Given the description of an element on the screen output the (x, y) to click on. 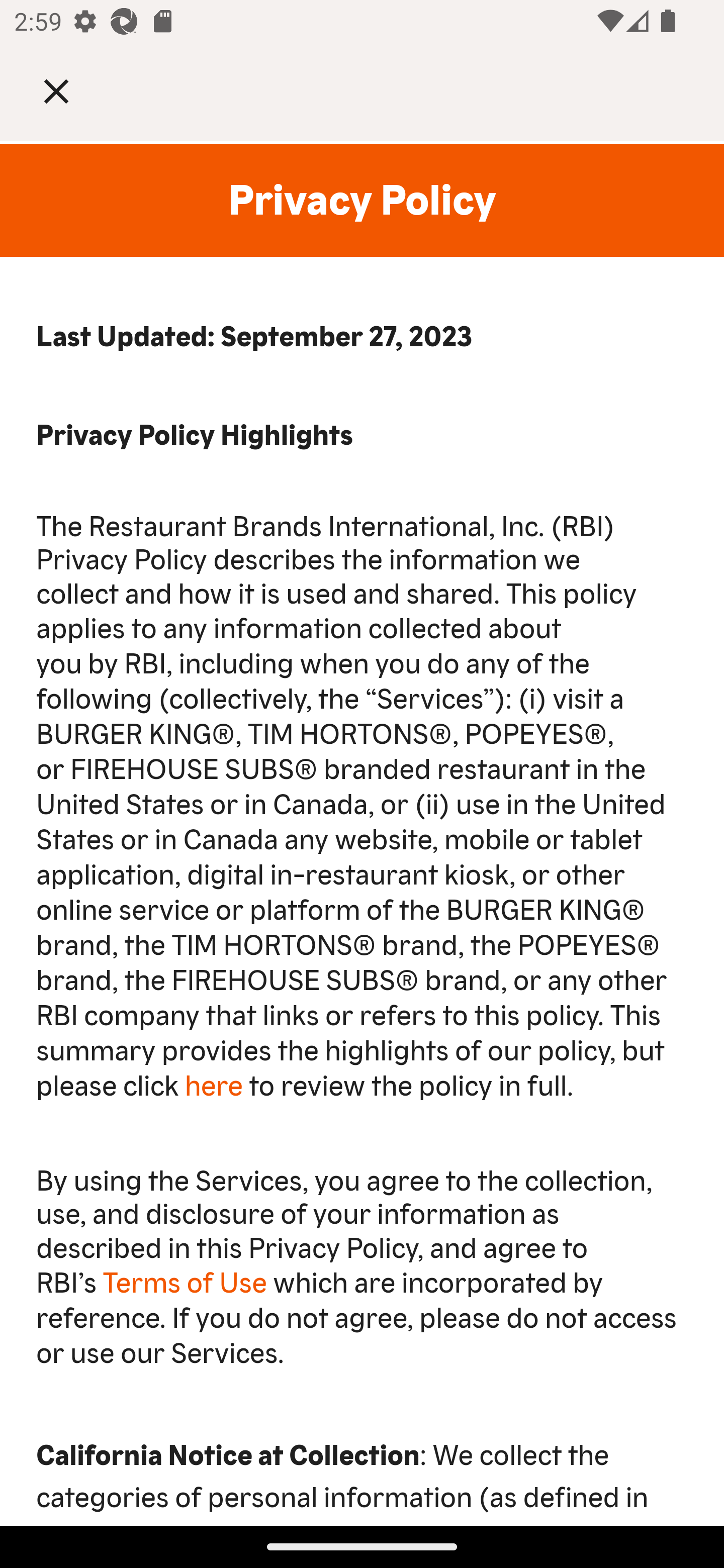
 (70, 90)
